Given the description of an element on the screen output the (x, y) to click on. 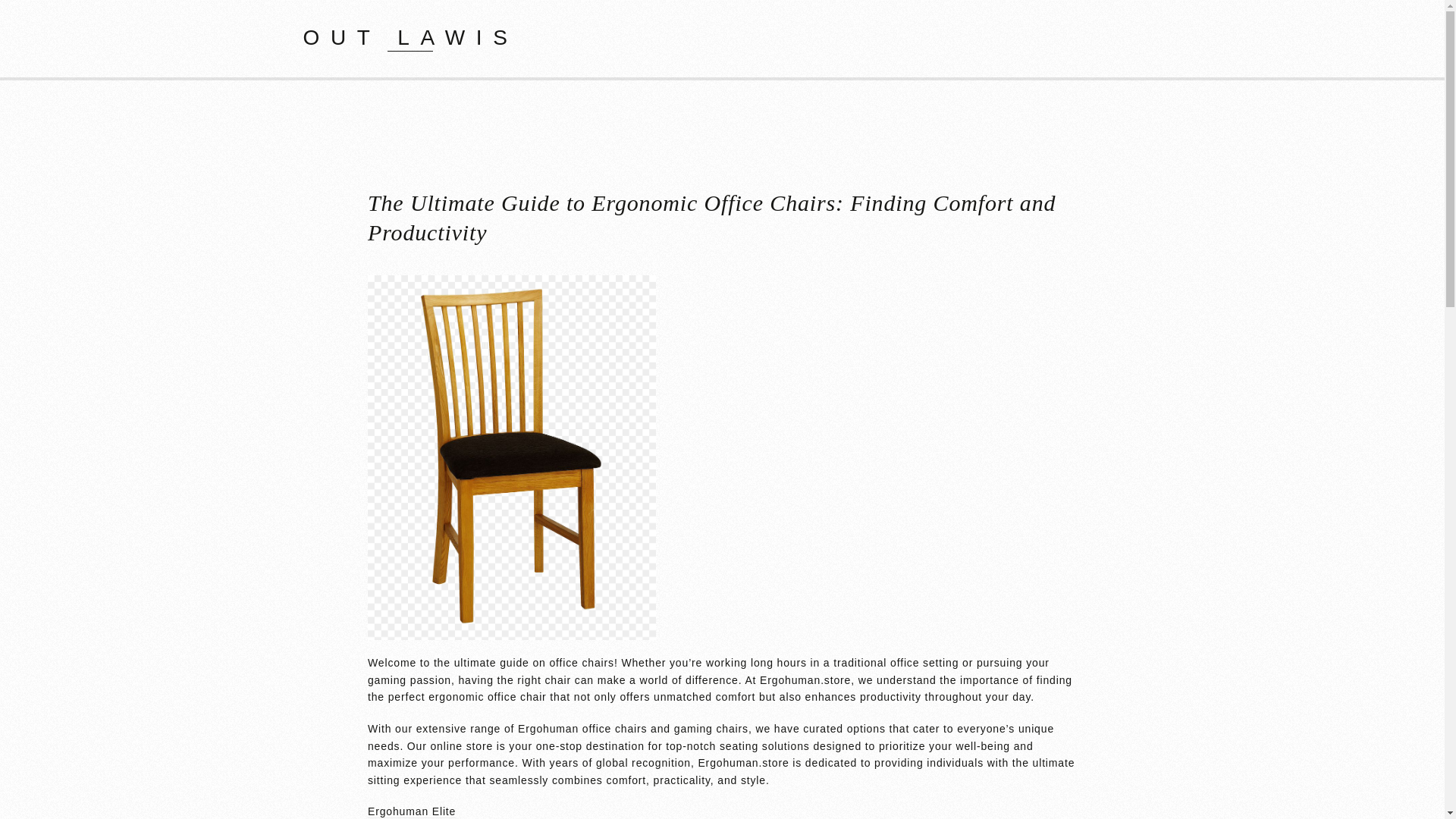
Ergohuman Elite (411, 811)
OUT LAWIS (410, 37)
